Given the description of an element on the screen output the (x, y) to click on. 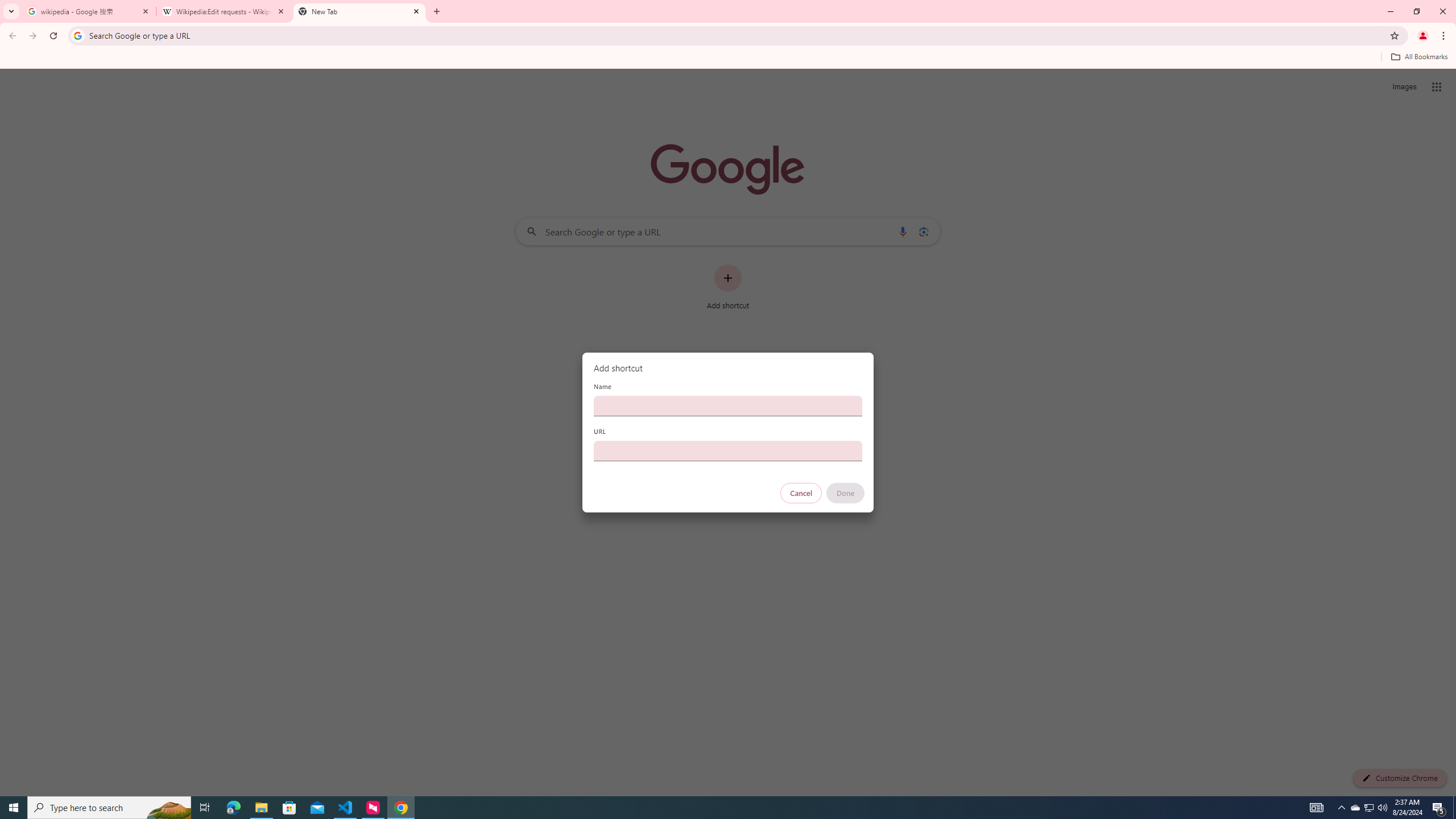
Done (845, 493)
Cancel (801, 493)
Name (727, 405)
URL (727, 450)
Wikipedia:Edit requests - Wikipedia (224, 11)
